Given the description of an element on the screen output the (x, y) to click on. 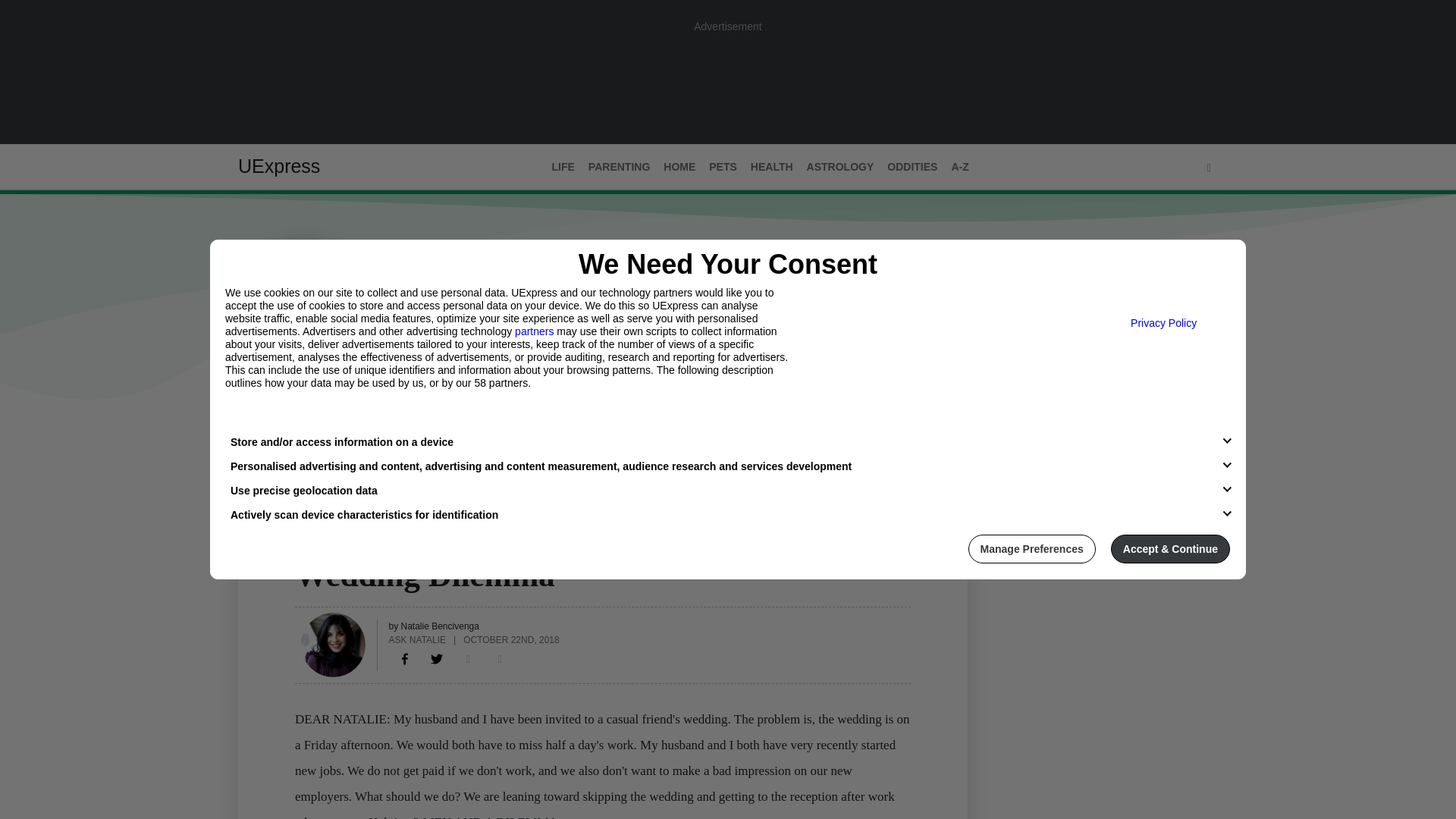
UExpress (279, 166)
Archives (371, 431)
PARENTING (618, 166)
ASK NATALIE (416, 639)
About (309, 431)
PETS (722, 166)
Wedding Dilemma (404, 658)
LIFE (562, 166)
A-Z (959, 166)
LIFE (306, 545)
Latest (256, 431)
ASTROLOGY (839, 166)
ODDITIES (911, 166)
HEALTH (771, 166)
HOME (678, 166)
